Given the description of an element on the screen output the (x, y) to click on. 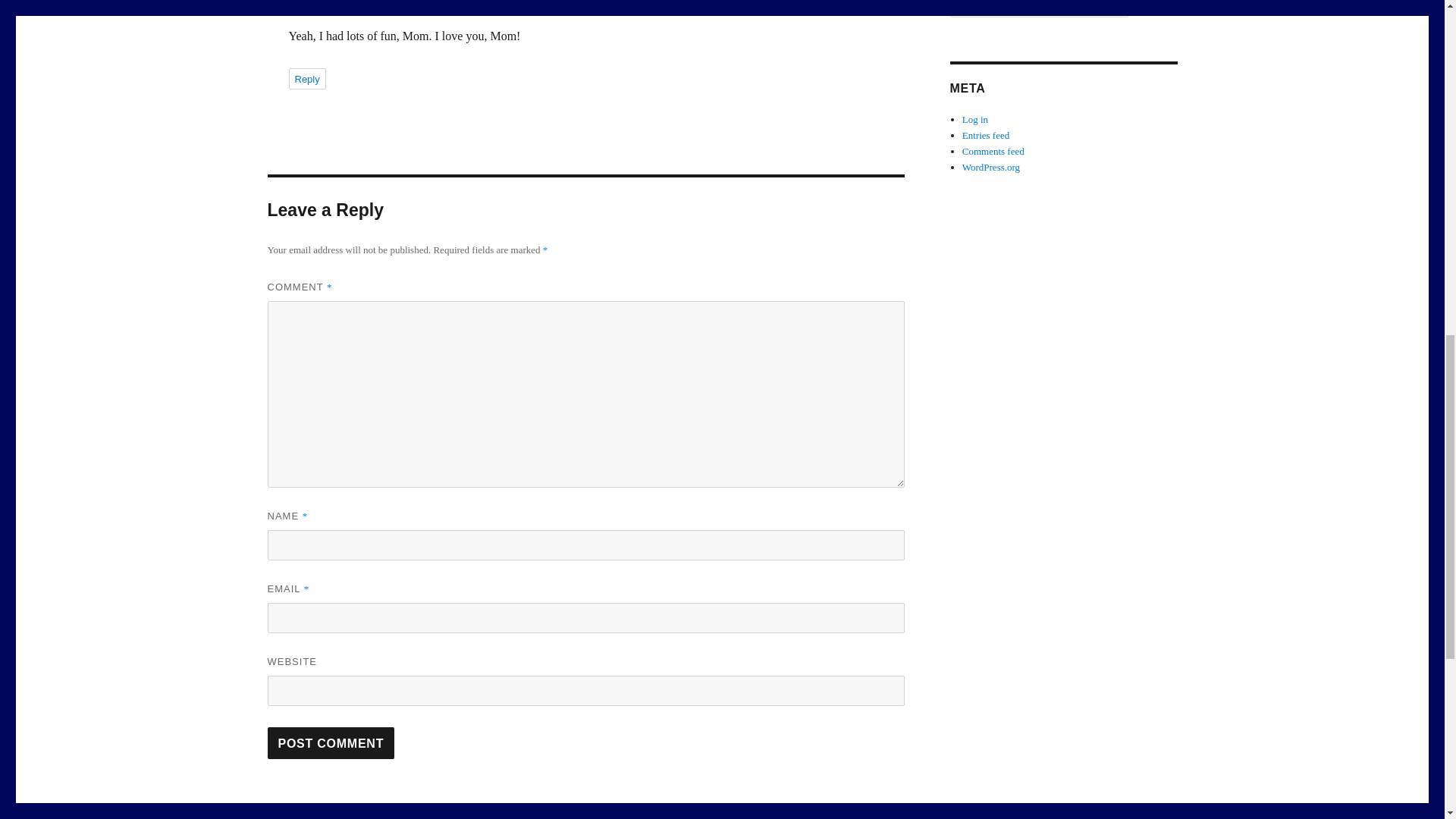
Log in (975, 119)
Comments feed (993, 151)
July 27, 2017 at 1:36 pm (384, 0)
Entries feed (985, 134)
Post Comment (330, 743)
Reply (306, 78)
Post Comment (330, 743)
WordPress.org (991, 166)
